Given the description of an element on the screen output the (x, y) to click on. 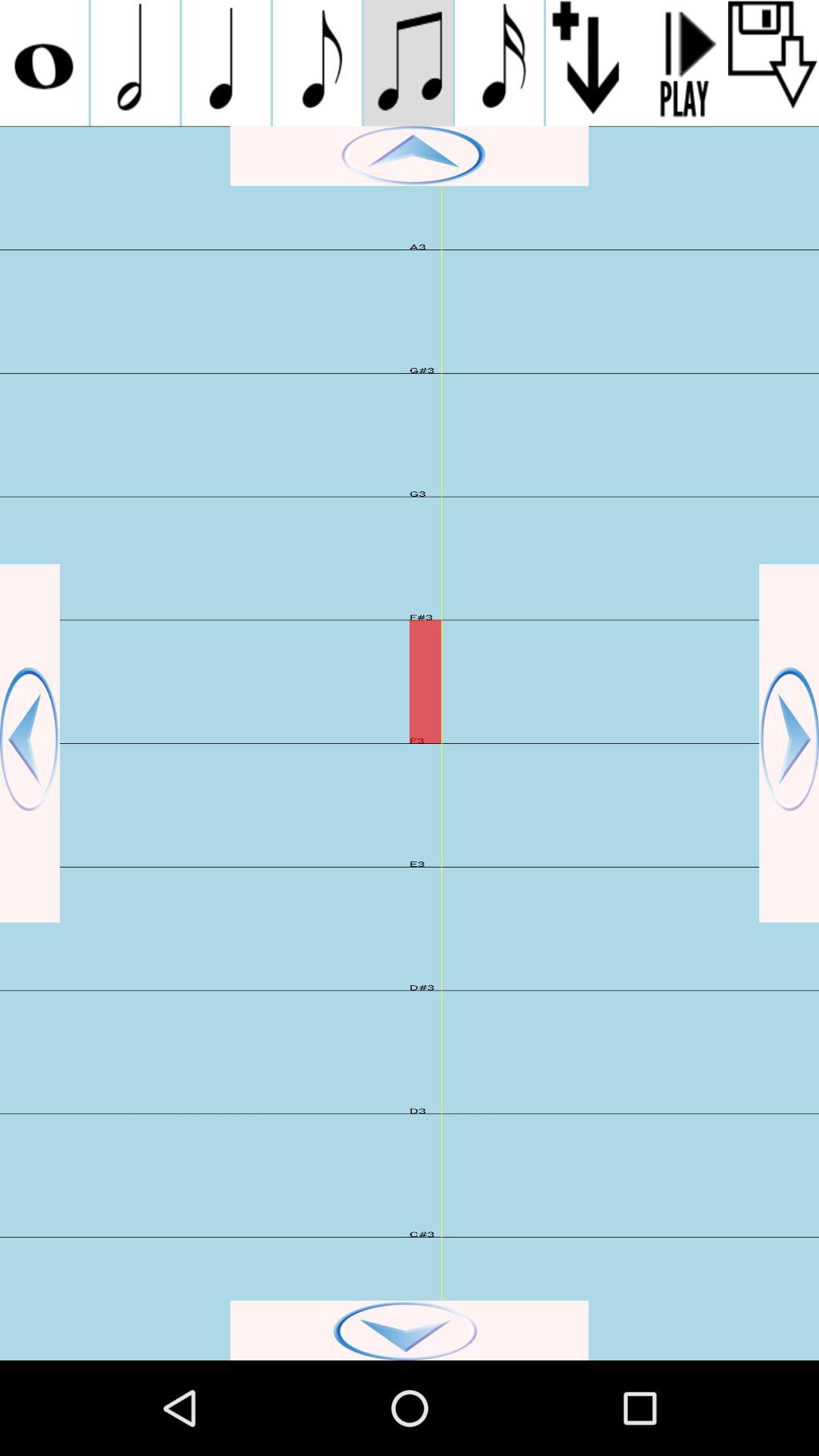
change the tune (499, 63)
